Given the description of an element on the screen output the (x, y) to click on. 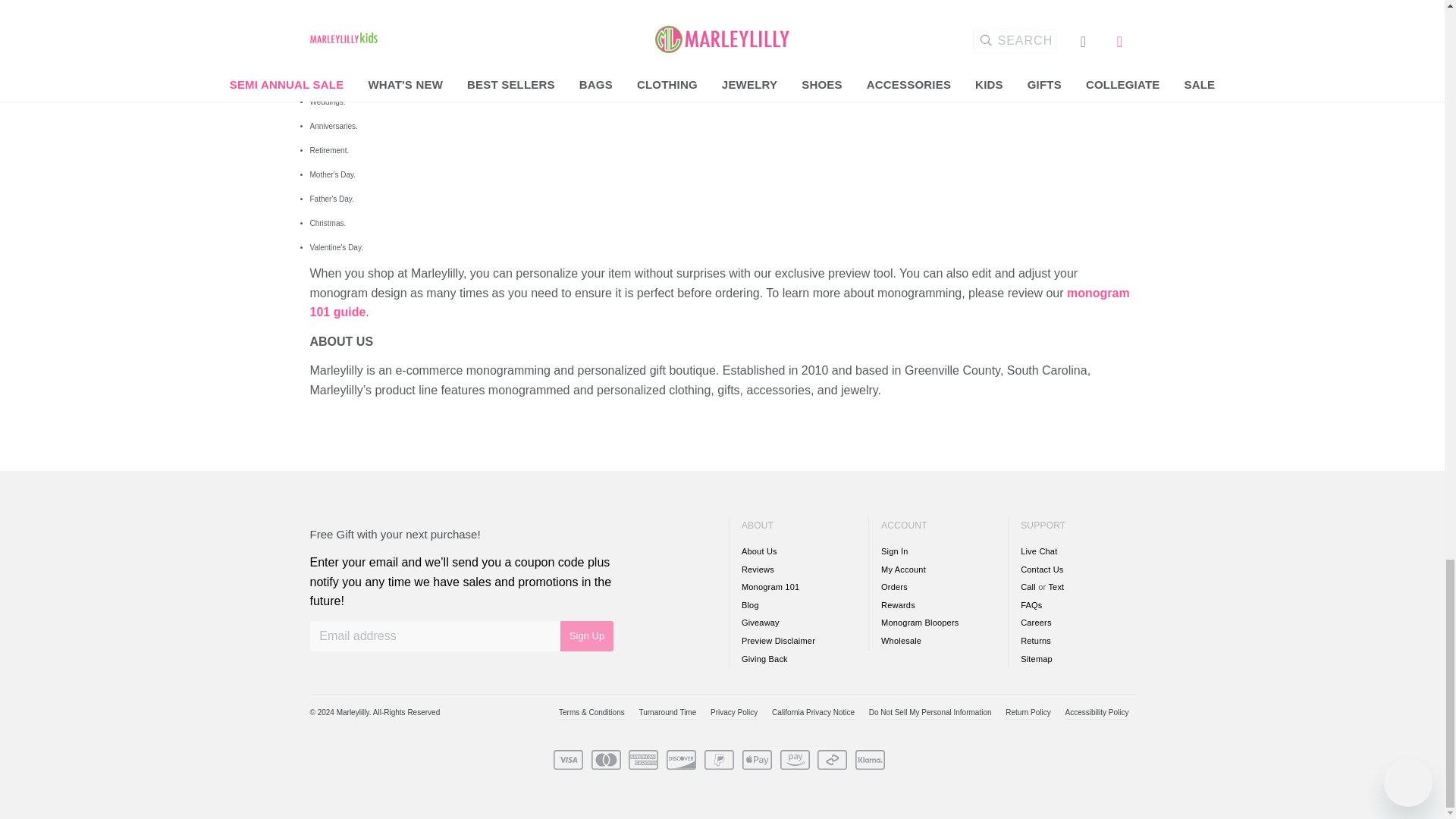
Sign Up (586, 635)
